Given the description of an element on the screen output the (x, y) to click on. 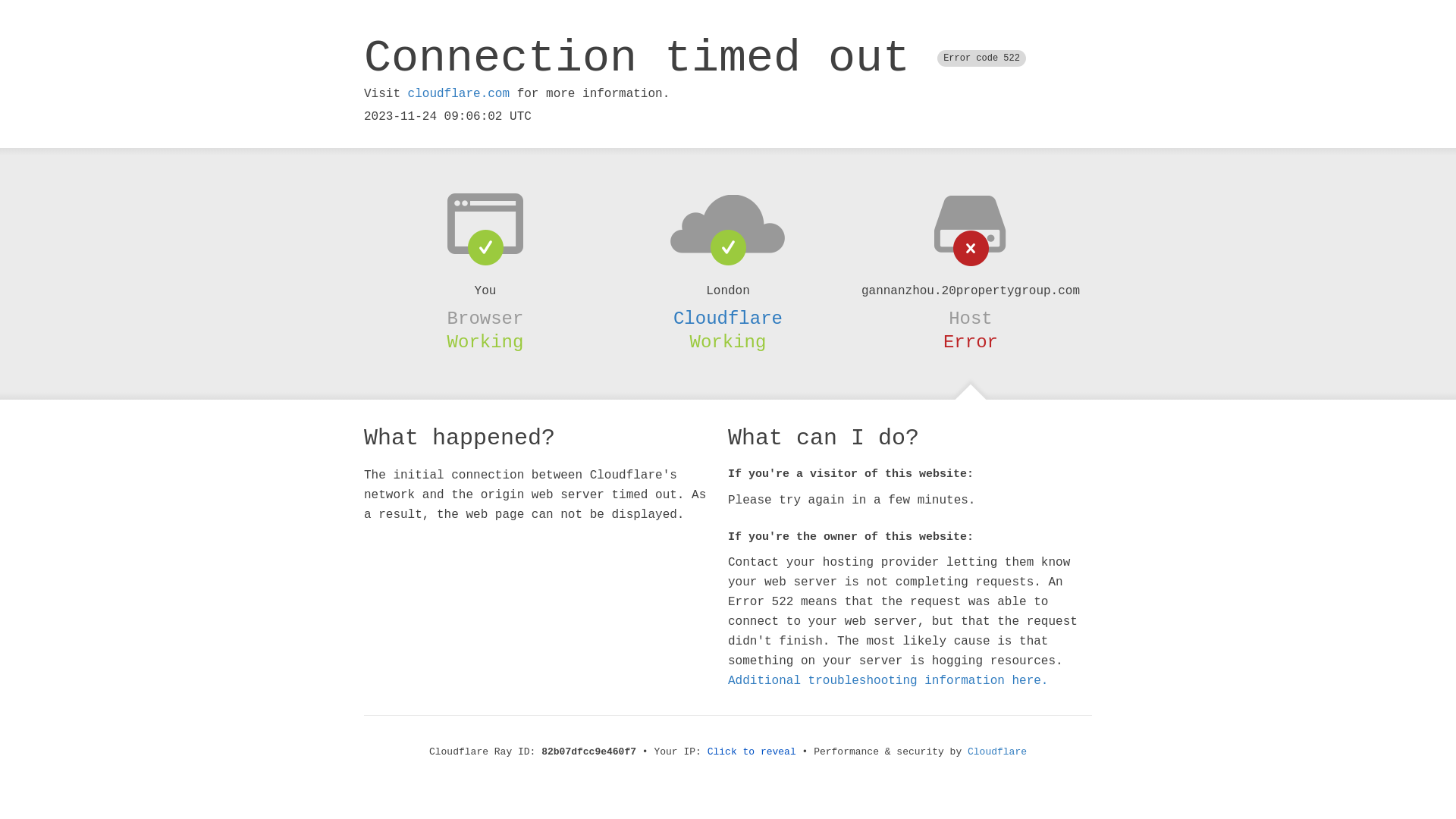
cloudflare.com Element type: text (458, 93)
Cloudflare Element type: text (727, 318)
Cloudflare Element type: text (996, 751)
Additional troubleshooting information here. Element type: text (888, 680)
Click to reveal Element type: text (751, 751)
